Given the description of an element on the screen output the (x, y) to click on. 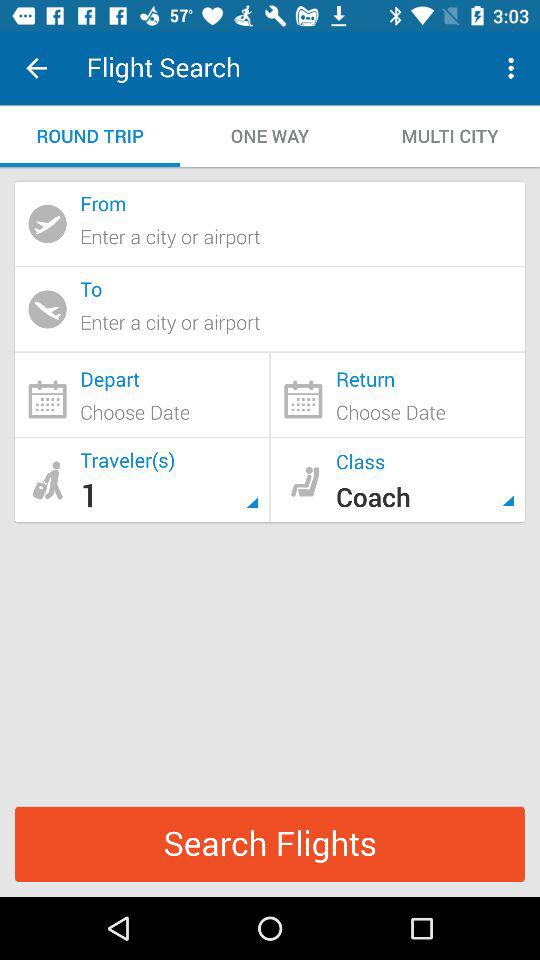
click the item next to one way (450, 136)
